Given the description of an element on the screen output the (x, y) to click on. 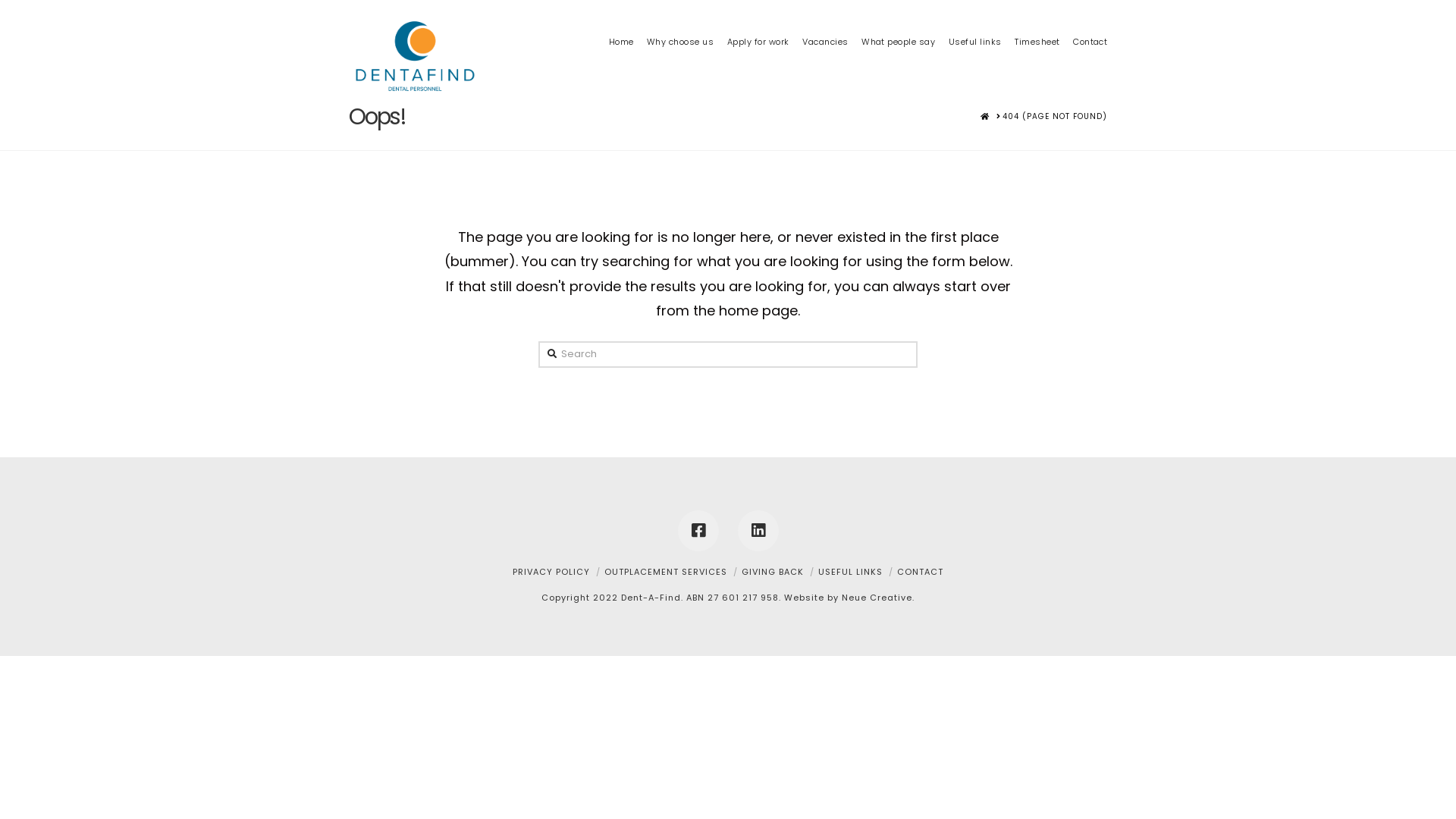
Home Element type: text (621, 18)
HOME Element type: text (984, 116)
OUTPLACEMENT SERVICES Element type: text (665, 571)
Vacancies Element type: text (824, 18)
PRIVACY POLICY Element type: text (550, 571)
Apply for work Element type: text (757, 18)
Why choose us Element type: text (680, 18)
CONTACT Element type: text (920, 571)
LinkedIn Element type: hover (757, 530)
Contact Element type: text (1086, 18)
Timesheet Element type: text (1036, 18)
GIVING BACK Element type: text (772, 571)
Facebook Element type: hover (697, 530)
USEFUL LINKS Element type: text (850, 571)
404 (PAGE NOT FOUND) Element type: text (1054, 116)
Useful links Element type: text (974, 18)
What people say Element type: text (897, 18)
